Given the description of an element on the screen output the (x, y) to click on. 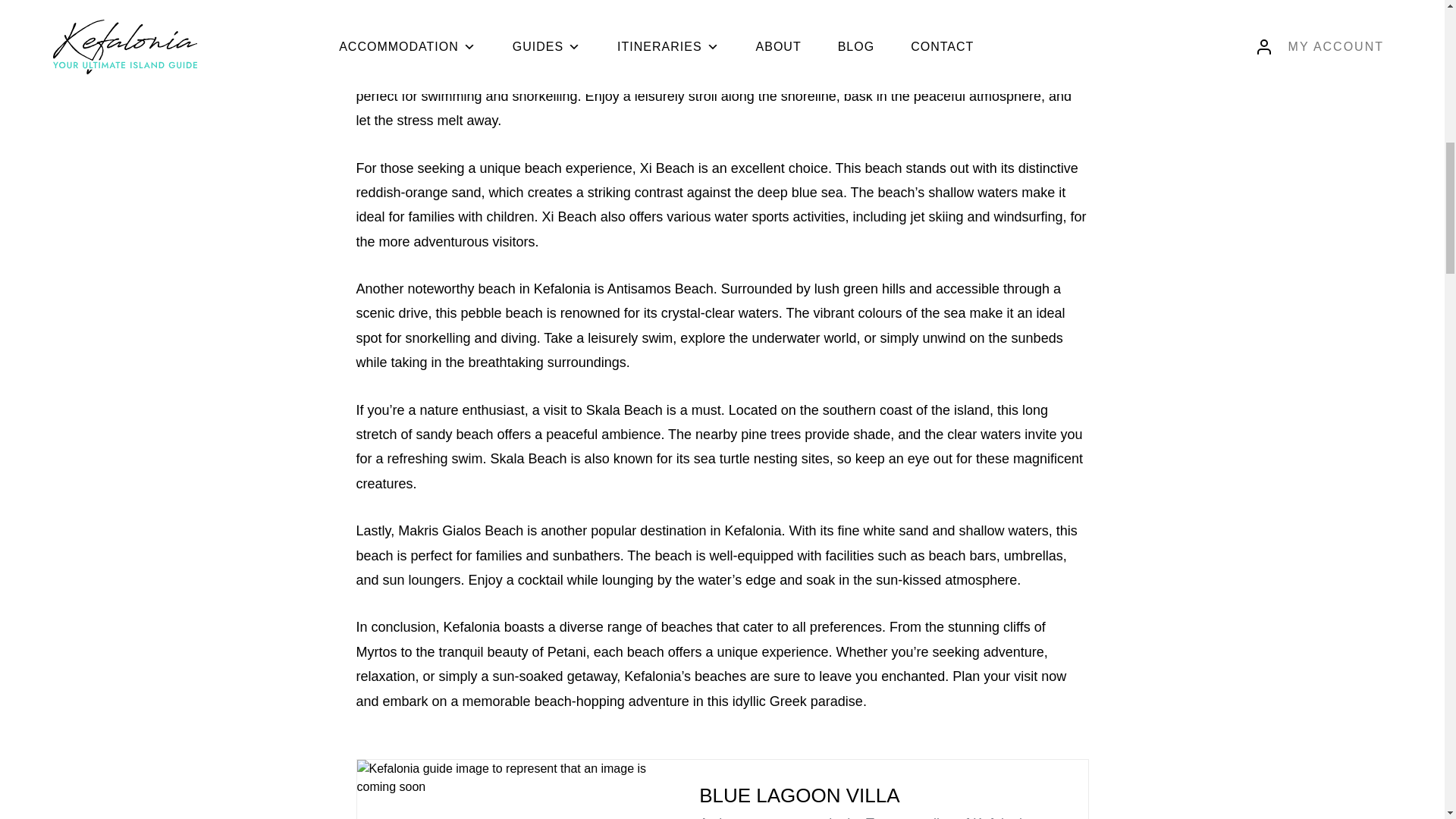
Blue Lagoon Villa - Kefalonia Guide (508, 789)
Blue Lagoon Villa (873, 795)
